Given the description of an element on the screen output the (x, y) to click on. 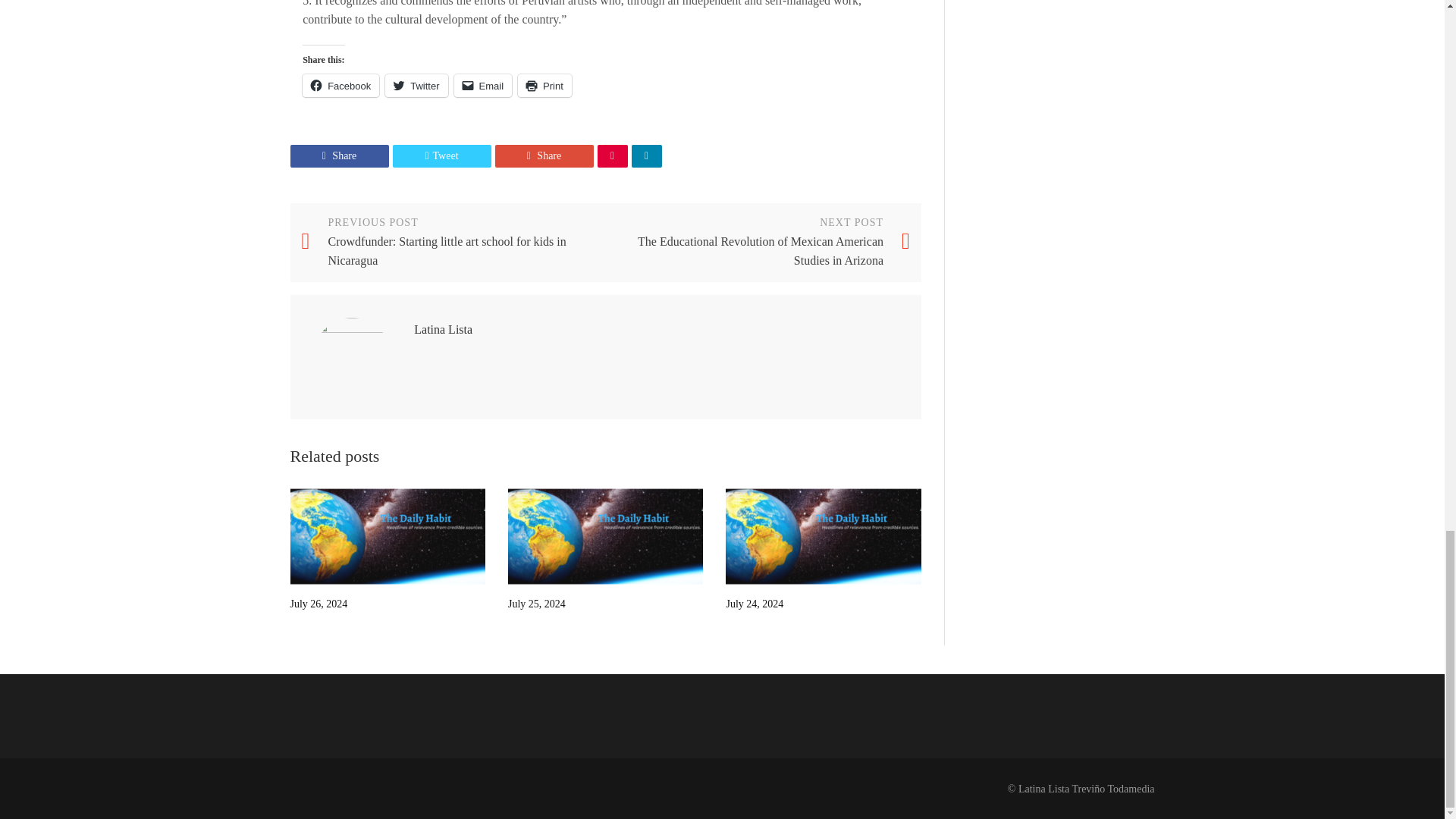
July 25, 2024 (605, 536)
Click to email a link to a friend (483, 85)
Click to share on Twitter (415, 85)
Posts by Latina Lista (442, 328)
Click to share on Facebook (340, 85)
Click to print (545, 85)
July 26, 2024 (386, 536)
July 24, 2024 (822, 536)
